Given the description of an element on the screen output the (x, y) to click on. 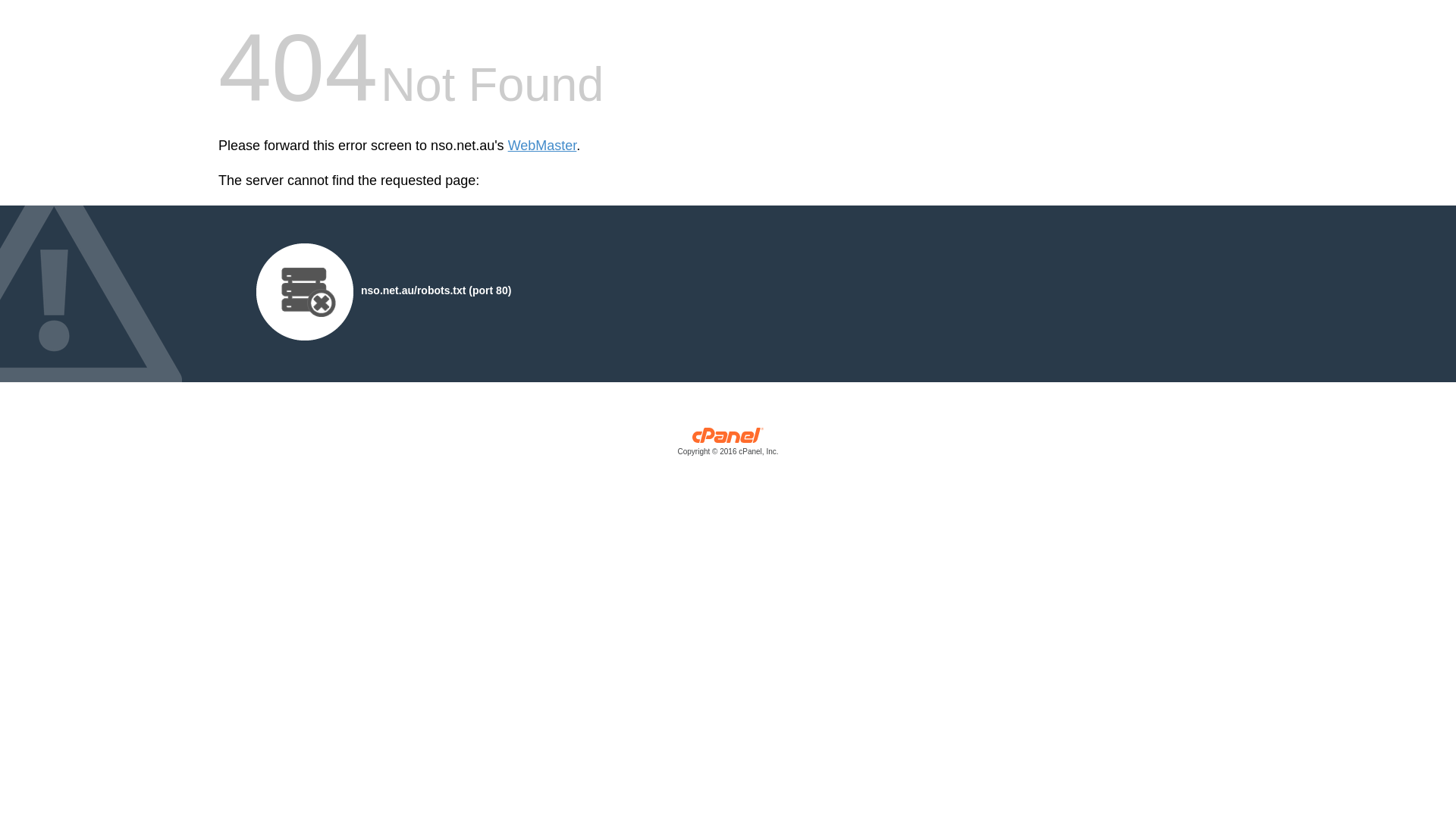
WebMaster Element type: text (542, 145)
